Given the description of an element on the screen output the (x, y) to click on. 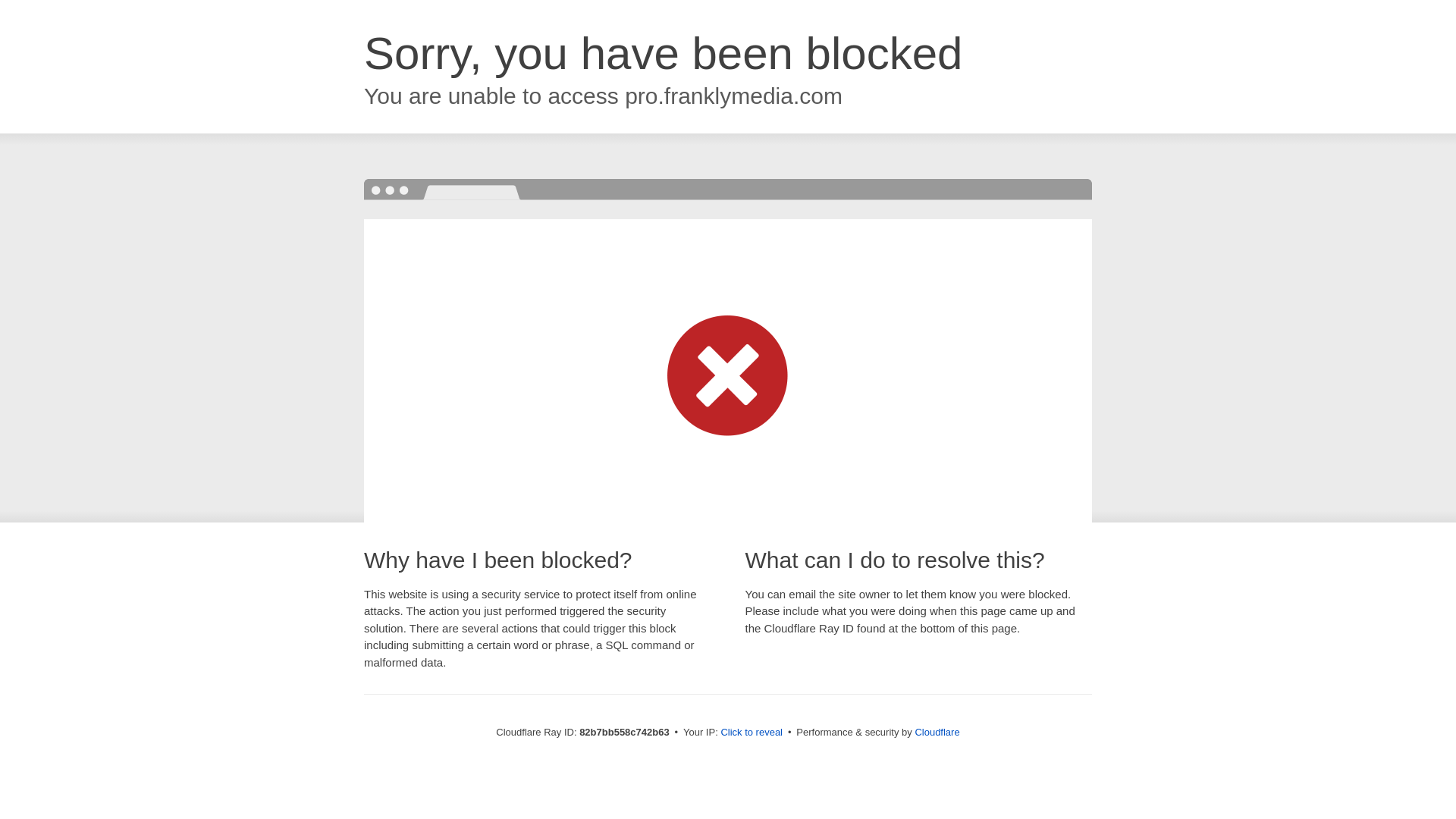
Cloudflare Element type: text (936, 731)
Click to reveal Element type: text (751, 732)
